Given the description of an element on the screen output the (x, y) to click on. 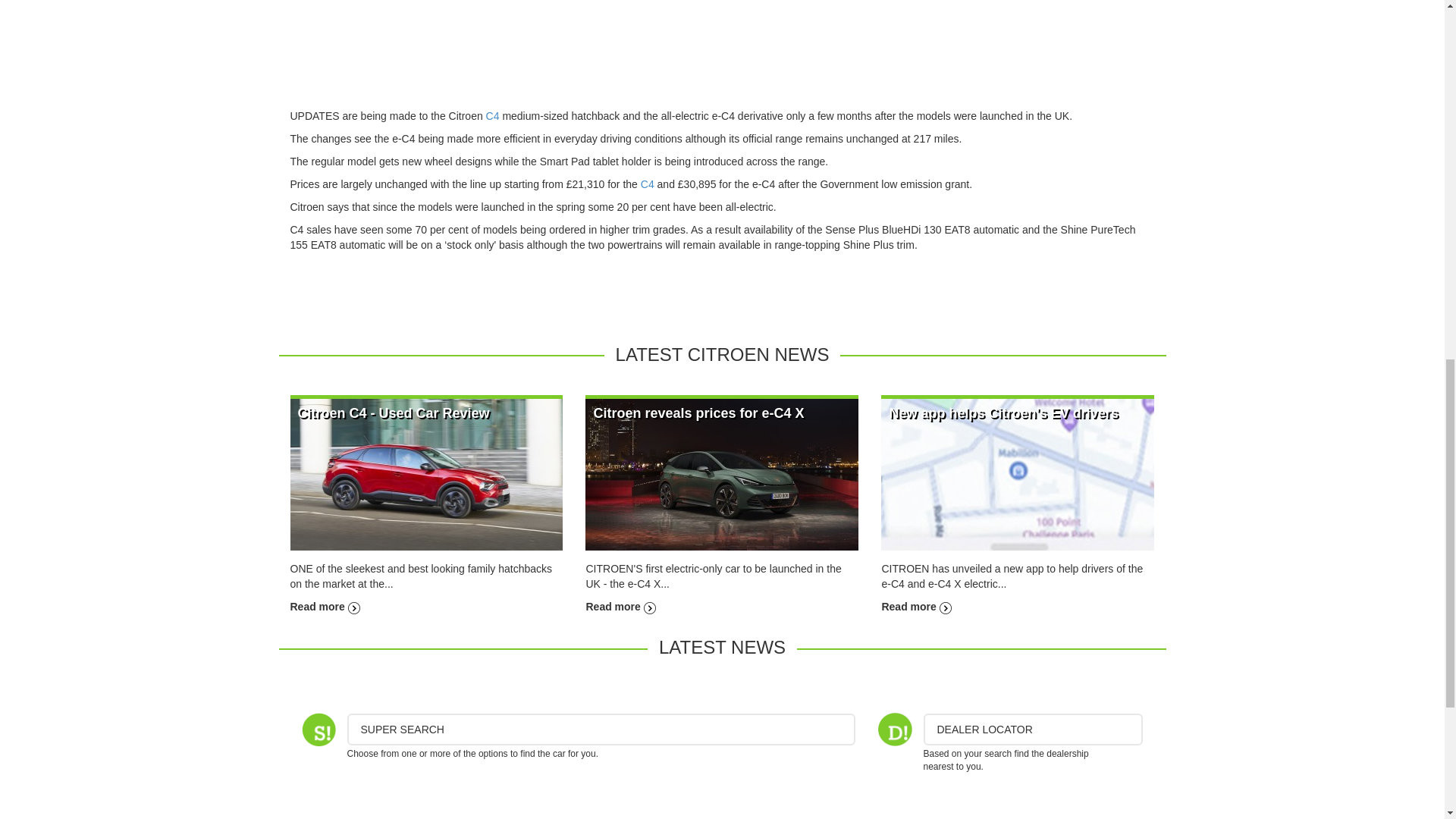
New app helps Citroen's EV drivers (1017, 473)
Read more (915, 606)
DEALER LOCATOR (1032, 729)
SUPER SEARCH (601, 729)
C4 (492, 115)
New app helps Citroen's EV drivers (1003, 412)
New app helps Citroen's EV drivers (915, 606)
Citroen C4 - Used Car Review (324, 606)
Citroen C4 - Used Car Review (425, 473)
Citroen reveals prices for e-C4 X (697, 412)
Citroen reveals prices for e-C4 X (620, 606)
Read more (324, 606)
Read more (620, 606)
New app helps Citroen's EV drivers (1003, 412)
Citroen reveals prices for e-C4 X (722, 473)
